Given the description of an element on the screen output the (x, y) to click on. 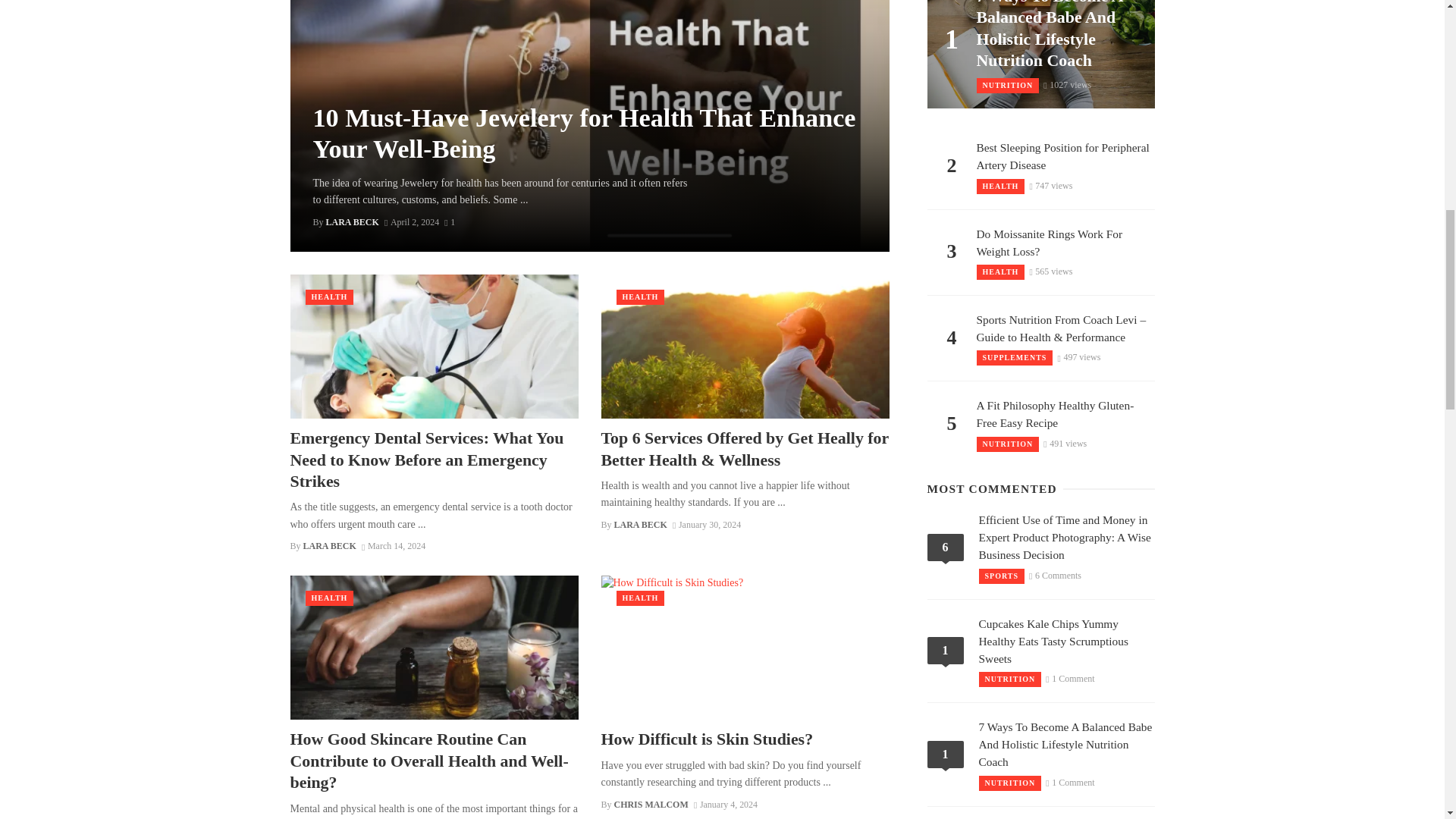
1 Comment (449, 222)
1 (449, 222)
March 14, 2024 at 2:06 pm (393, 545)
January 4, 2024 at 7:33 pm (725, 804)
January 30, 2024 at 6:53 am (706, 524)
April 2, 2024 at 10:59 am (411, 222)
LARA BECK (351, 222)
